Given the description of an element on the screen output the (x, y) to click on. 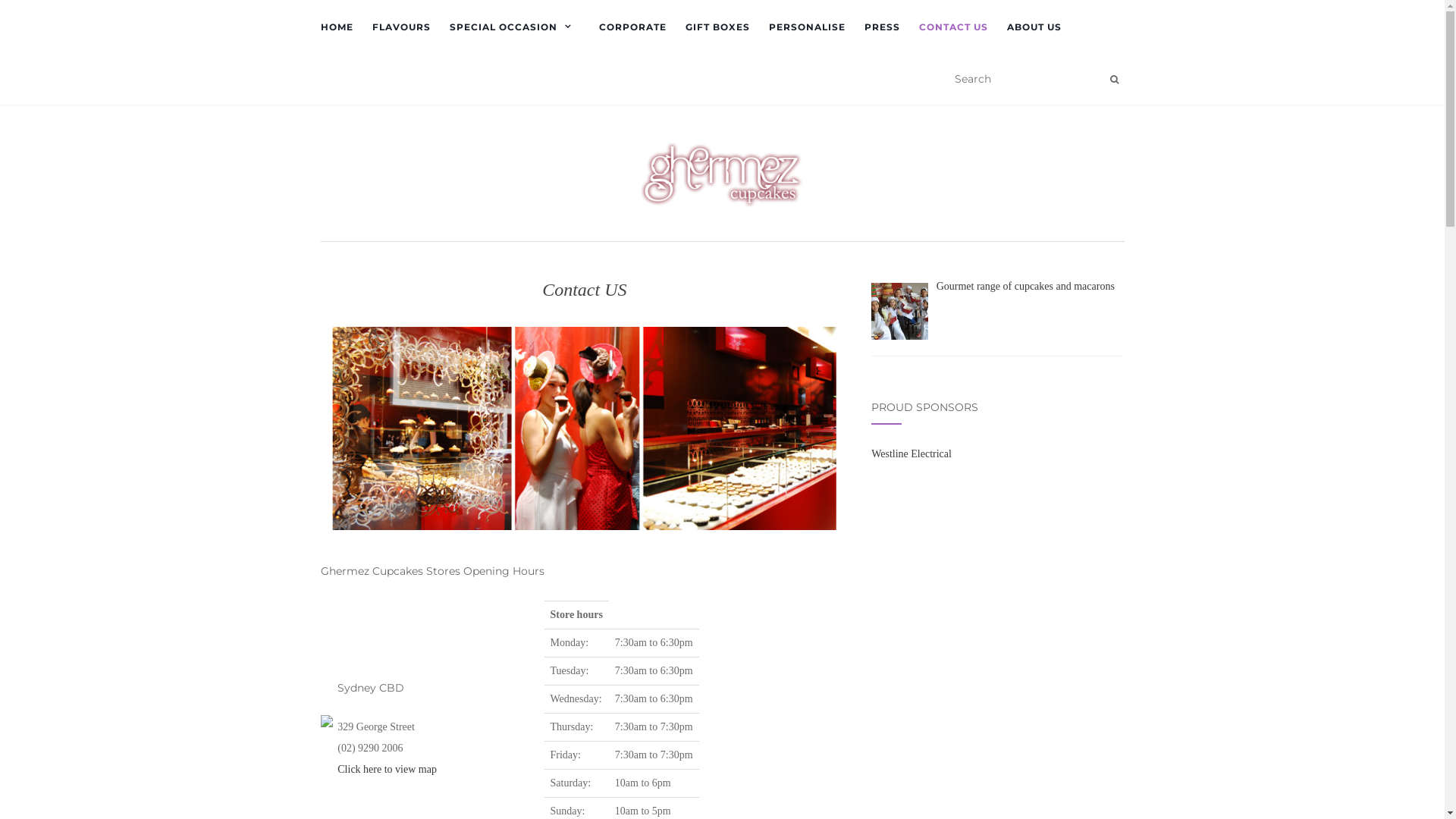
Search Element type: text (1114, 79)
HOME Element type: text (336, 26)
CORPORATE Element type: text (632, 26)
GIFT BOXES Element type: text (717, 26)
FLAVOURS Element type: text (400, 26)
ABOUT US Element type: text (1034, 26)
Click here to view map Element type: text (386, 769)
CONTACT US Element type: text (953, 26)
Westline Electrical Element type: text (911, 453)
SPECIAL OCCASION Element type: text (513, 26)
PRESS Element type: text (882, 26)
PERSONALISE Element type: text (806, 26)
Gourmet range of cupcakes and macarons Element type: text (1025, 285)
